Given the description of an element on the screen output the (x, y) to click on. 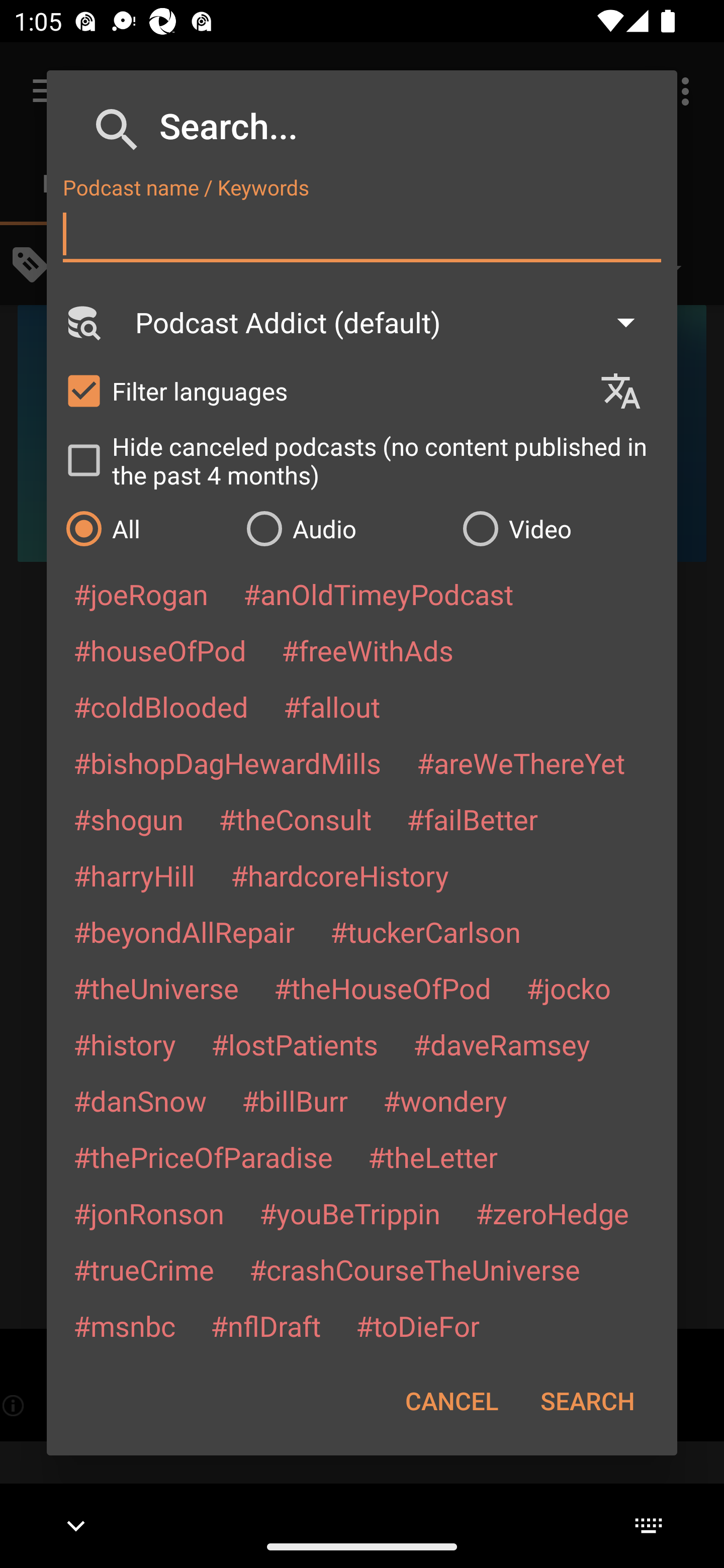
Podcast name / Keywords (361, 234)
Search Engine (82, 322)
Podcast Addict (default) (394, 322)
Languages selection (629, 390)
Filter languages (322, 390)
All (145, 528)
Audio (344, 528)
Video (560, 528)
#joeRogan (140, 594)
#anOldTimeyPodcast (378, 594)
#houseOfPod (159, 650)
#freeWithAds (367, 650)
#coldBlooded (160, 705)
#fallout (331, 705)
#bishopDagHewardMills (227, 762)
#areWeThereYet (521, 762)
#shogun (128, 818)
#theConsult (294, 818)
#failBetter (471, 818)
#harryHill (134, 875)
#hardcoreHistory (339, 875)
#beyondAllRepair (184, 931)
#tuckerCarlson (425, 931)
#theUniverse (155, 987)
#theHouseOfPod (381, 987)
#jocko (568, 987)
#history (124, 1044)
#lostPatients (294, 1044)
#daveRamsey (501, 1044)
#danSnow (139, 1100)
#billBurr (294, 1100)
#wondery (444, 1100)
#thePriceOfParadise (203, 1157)
#theLetter (432, 1157)
#jonRonson (148, 1213)
#youBeTrippin (349, 1213)
#zeroHedge (552, 1213)
#trueCrime (143, 1268)
#crashCourseTheUniverse (414, 1268)
#msnbc (124, 1325)
#nflDraft (265, 1325)
#toDieFor (417, 1325)
CANCEL (451, 1400)
SEARCH (587, 1400)
